Given the description of an element on the screen output the (x, y) to click on. 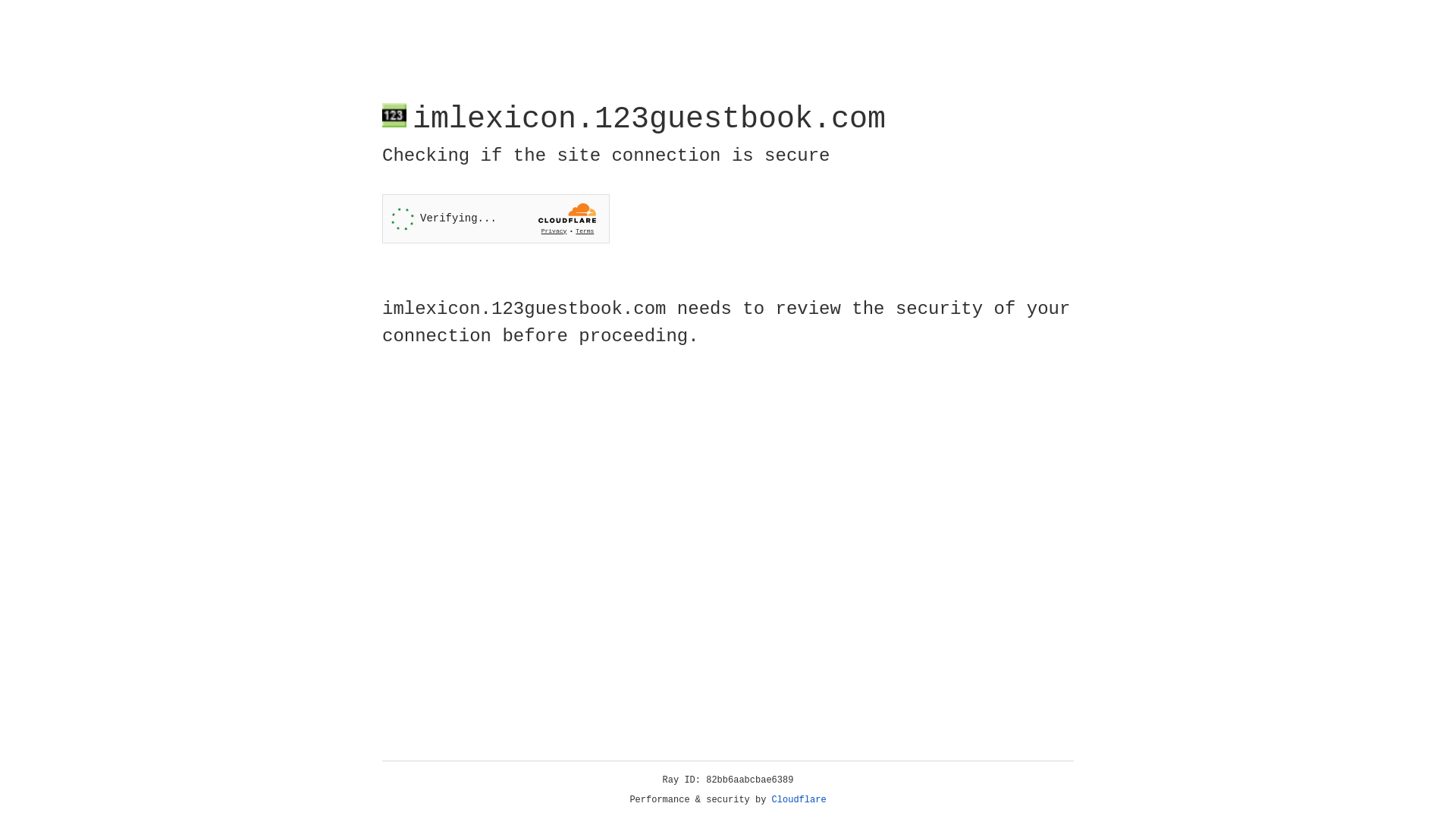
Widget containing a Cloudflare security challenge Element type: hover (495, 218)
Cloudflare Element type: text (798, 799)
